Given the description of an element on the screen output the (x, y) to click on. 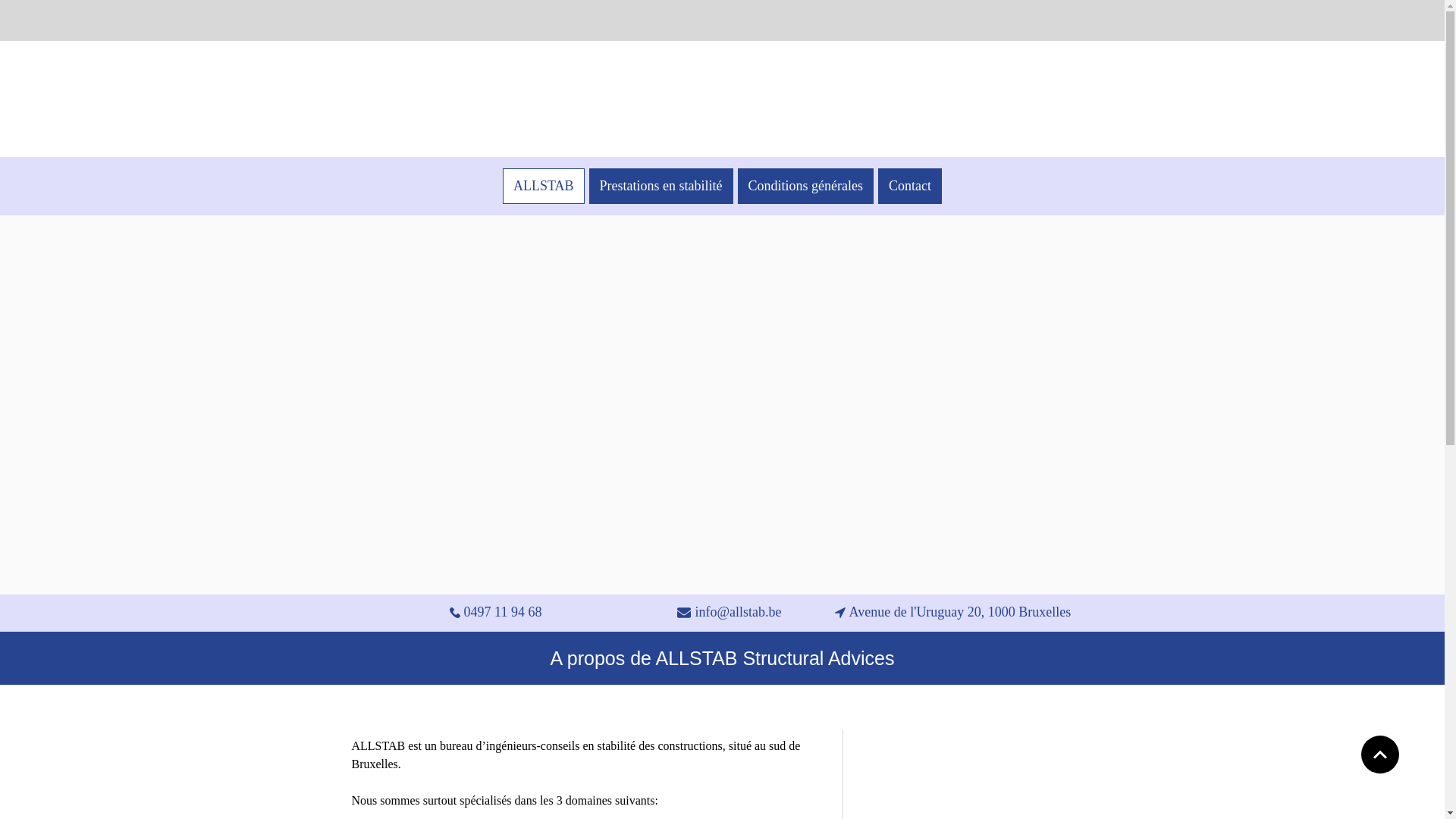
info@allstab.be Element type: text (728, 612)
Logo_Allstab_2022_Low_Resolution.jpg Element type: hover (698, 98)
Contact Element type: text (909, 185)
ALLSTAB Element type: text (543, 185)
0497 11 94 68 Element type: text (495, 612)
